Given the description of an element on the screen output the (x, y) to click on. 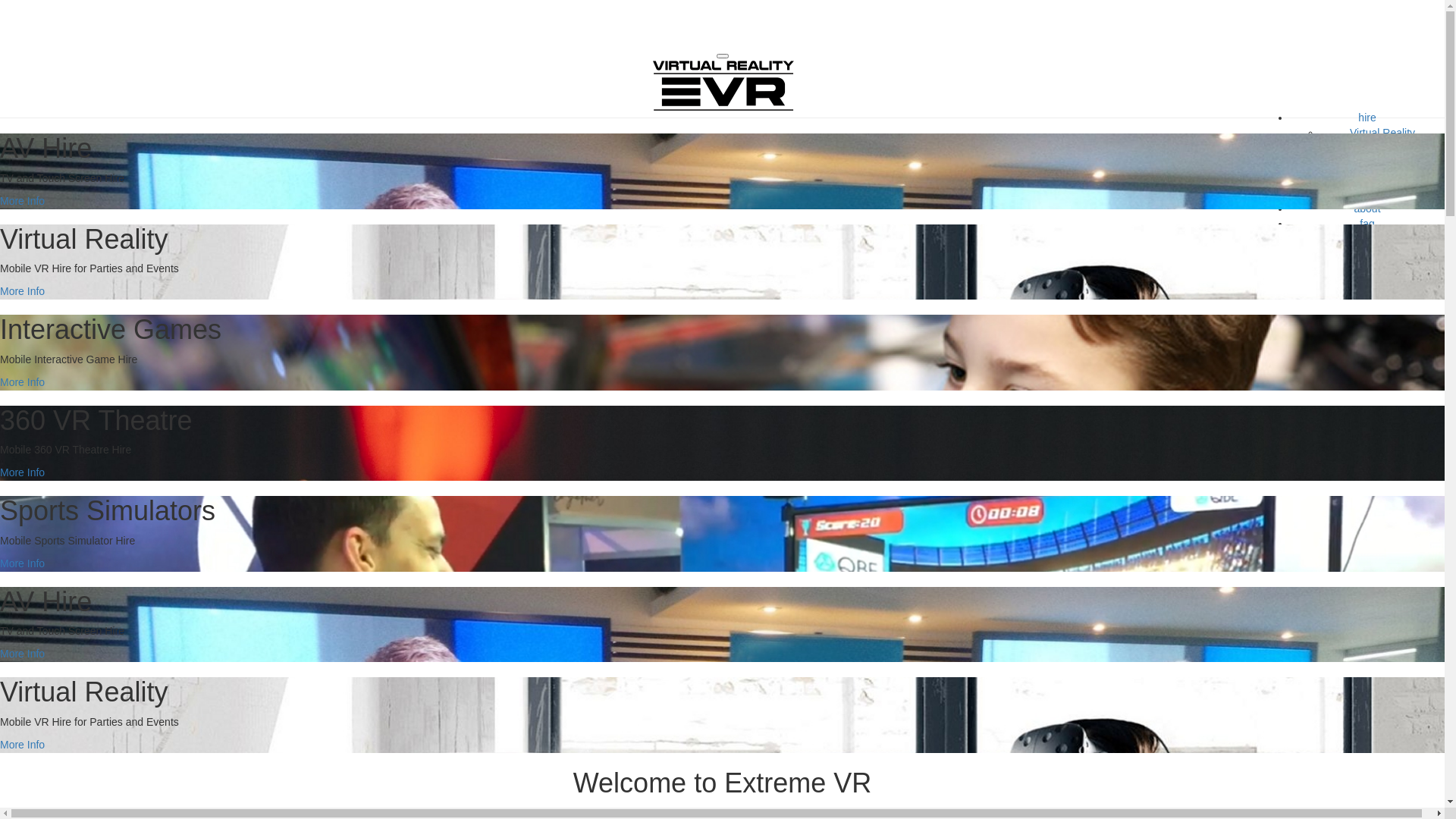
 0468 752 485 Element type: text (1367, 269)
Interactive Games Element type: text (1382, 147)
TV and Touch Screen Hire Element type: text (1382, 193)
More Info Element type: text (22, 291)
Virtual Reality Element type: text (1382, 132)
More Info Element type: text (22, 472)
More Info Element type: text (22, 382)
faq Element type: text (1366, 223)
about Element type: text (1367, 208)
hire Element type: text (1366, 117)
More Info Element type: text (22, 563)
blog Element type: text (1367, 238)
More Info Element type: text (22, 744)
contact Element type: text (1366, 253)
More Info Element type: text (22, 653)
More Info Element type: text (22, 200)
Sports Simulators Element type: text (1382, 178)
